Given the description of an element on the screen output the (x, y) to click on. 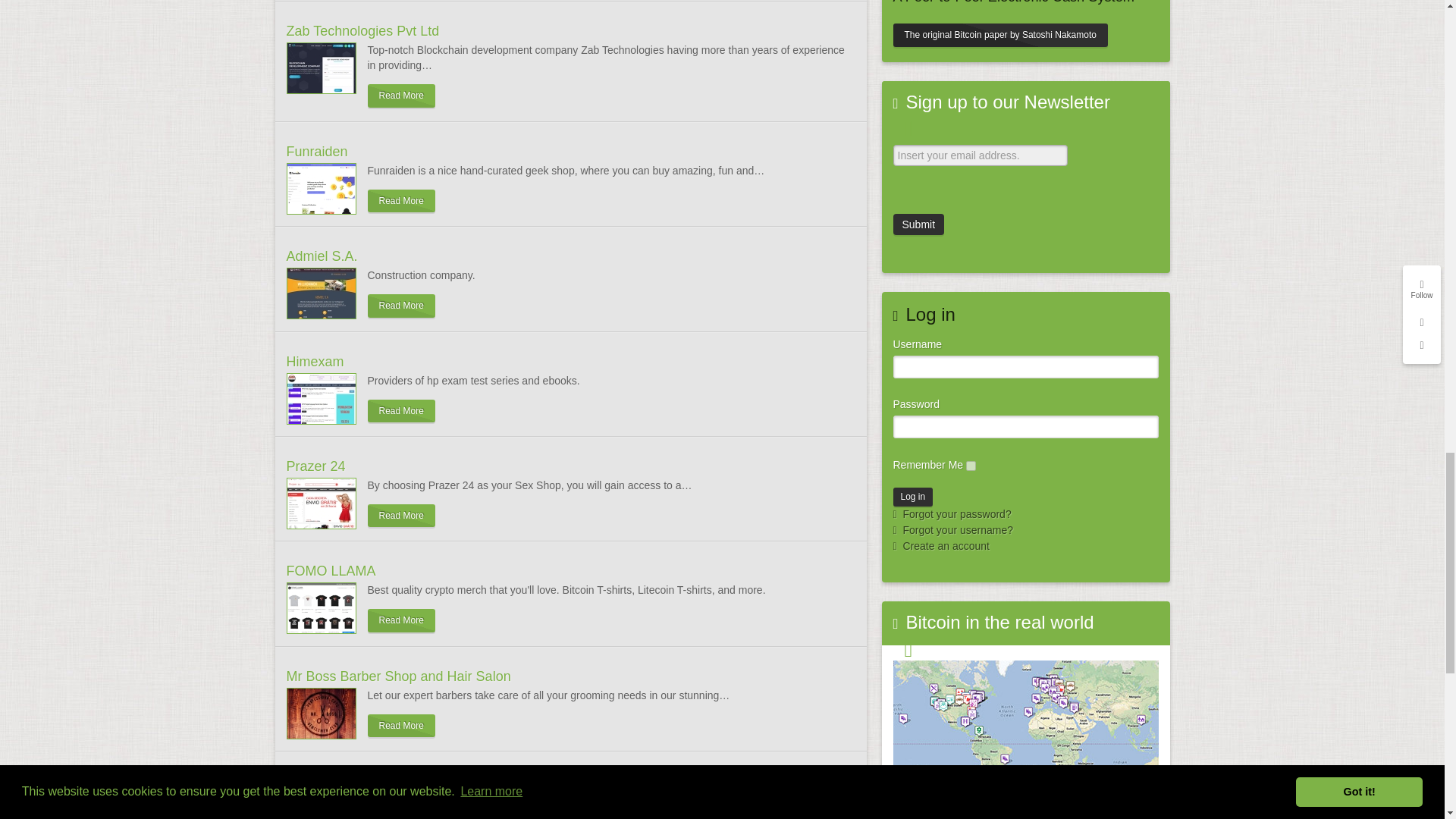
Log in (913, 496)
yes (970, 465)
Submit (918, 224)
